Given the description of an element on the screen output the (x, y) to click on. 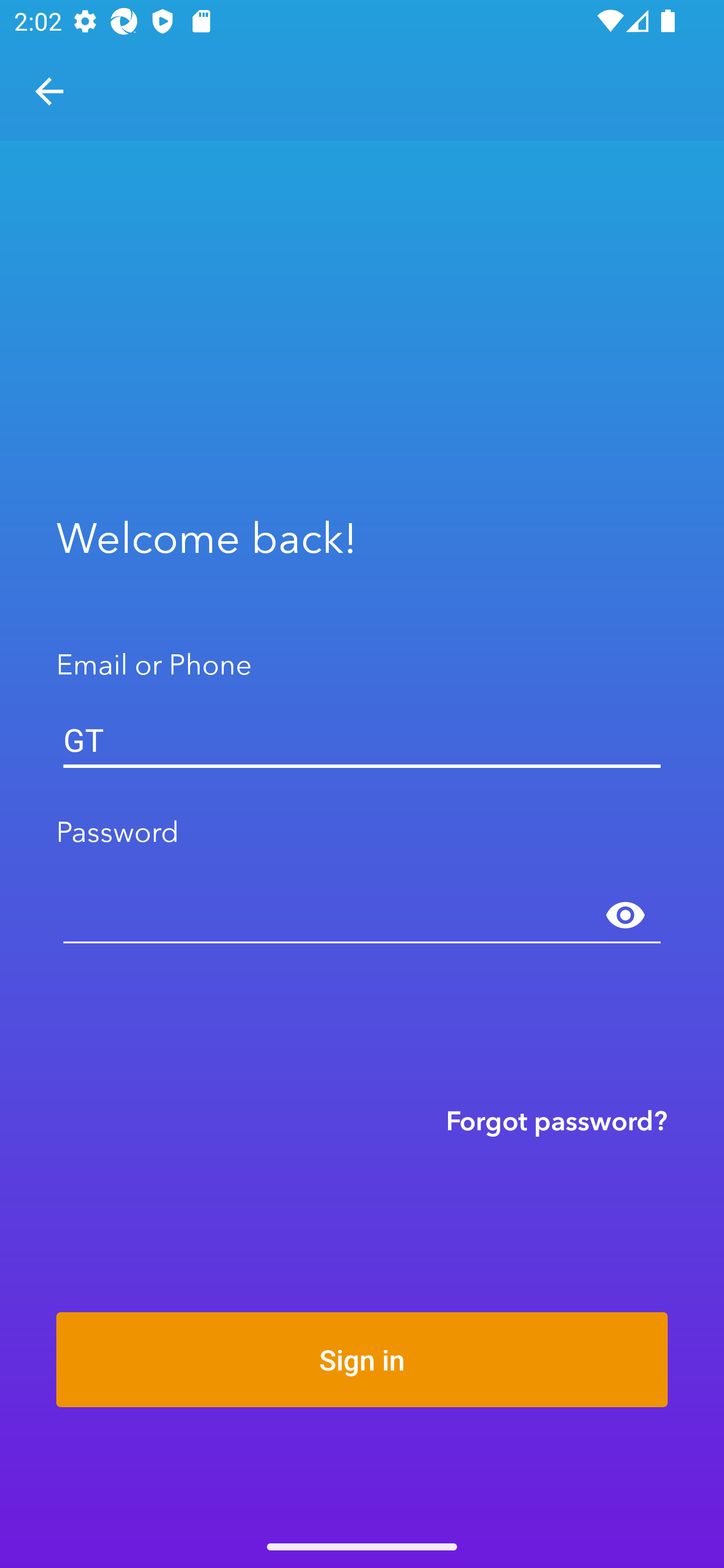
Navigate up (49, 91)
GT (361, 739)
Show password (625, 915)
Forgot password? (556, 1119)
Sign in (361, 1359)
